Given the description of an element on the screen output the (x, y) to click on. 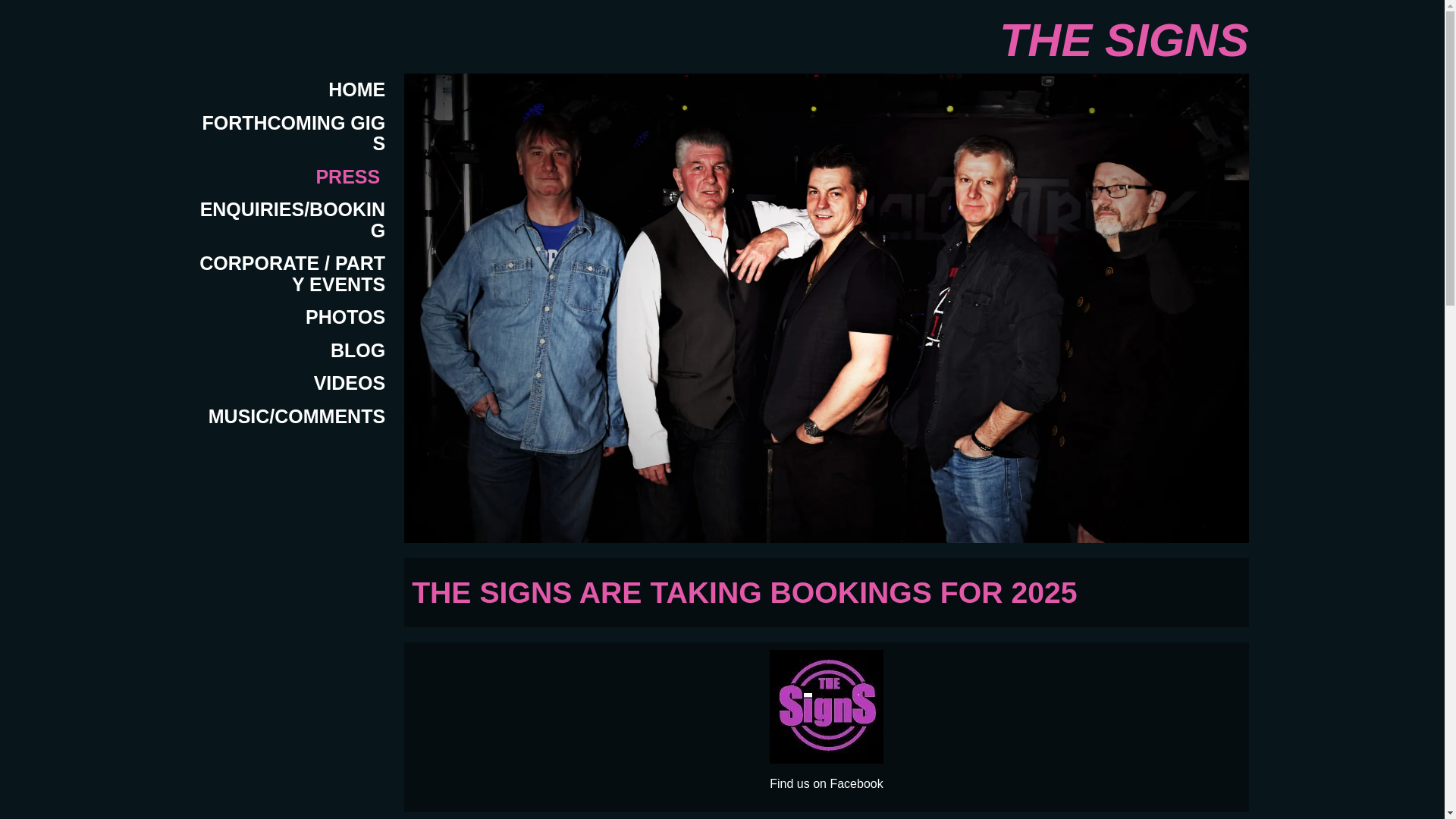
THE SIGNS (1123, 40)
VIDEOS (292, 383)
FORTHCOMING GIGS (292, 133)
HOME (292, 90)
PRESS  (292, 177)
PHOTOS (292, 317)
BLOG (292, 350)
